Given the description of an element on the screen output the (x, y) to click on. 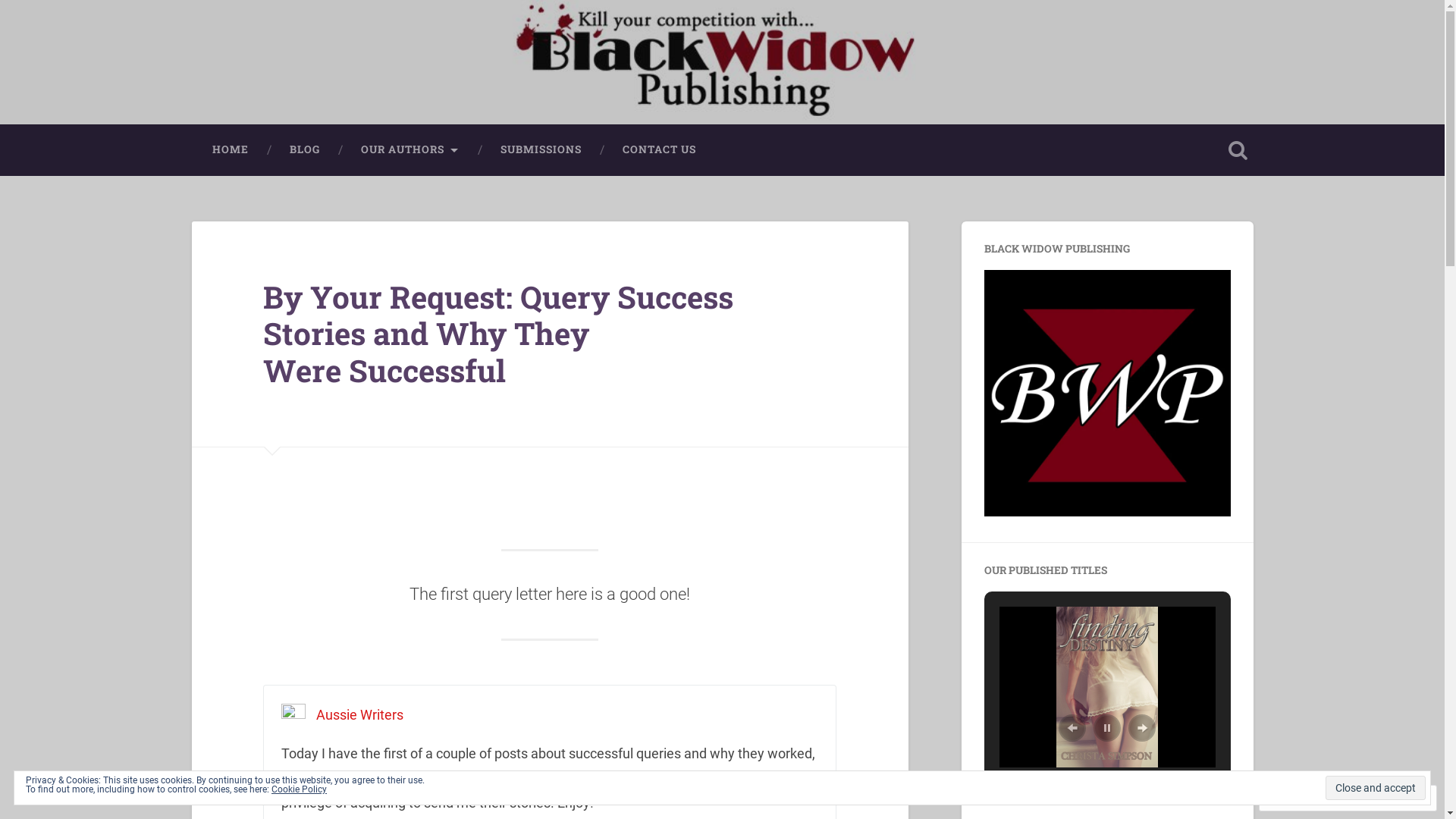
Close and accept Element type: text (1375, 787)
Comment Element type: text (1300, 797)
SUBMISSIONS Element type: text (540, 149)
CONTACT US Element type: text (659, 149)
OUR AUTHORS Element type: text (409, 149)
BLOG Element type: text (303, 149)
Black Widow Publishing Element type: text (353, 85)
Aussie Writers Element type: text (358, 714)
Follow Element type: text (1374, 797)
Cookie Policy Element type: text (298, 789)
Open Search Element type: text (1237, 149)
HOME Element type: text (229, 149)
Finding Destiny &#8211;&nbsp;e-cover2 Element type: hover (1106, 687)
